Given the description of an element on the screen output the (x, y) to click on. 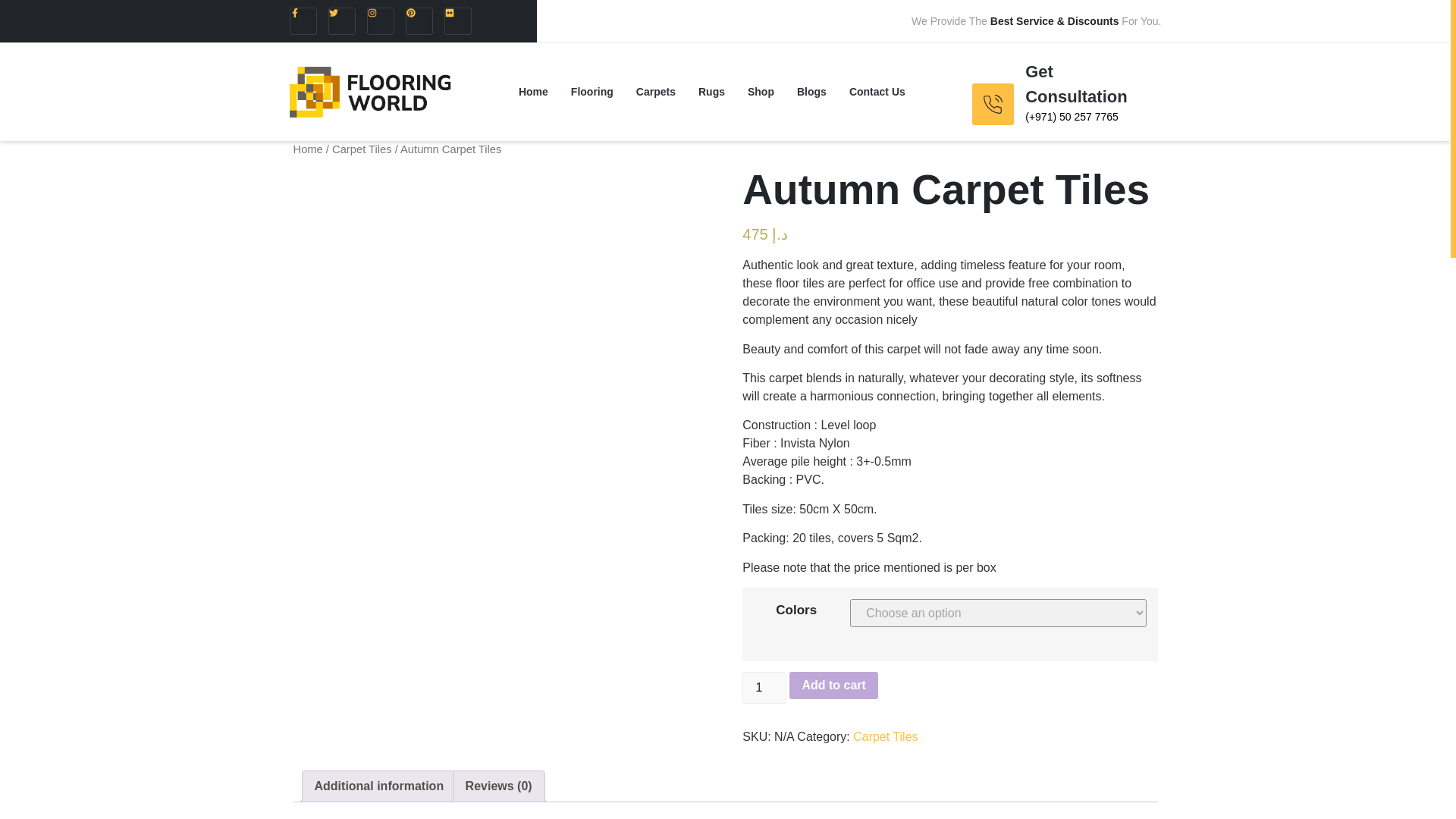
Carpets (655, 91)
1 (764, 687)
Flooring (591, 91)
Contact Us (877, 91)
